Given the description of an element on the screen output the (x, y) to click on. 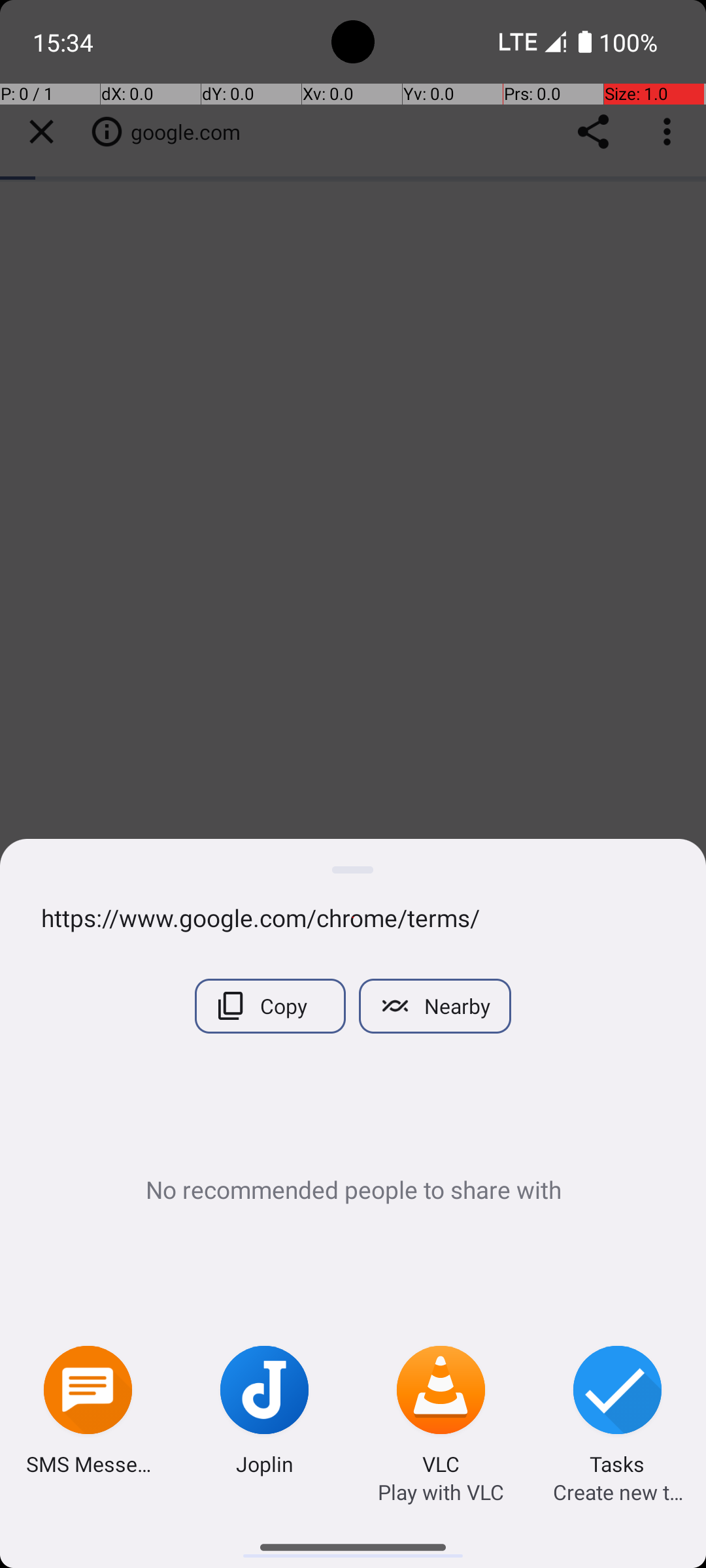
Copy Element type: android.widget.Button (269, 1005)
Play with VLC Element type: android.widget.TextView (440, 1491)
